Given the description of an element on the screen output the (x, y) to click on. 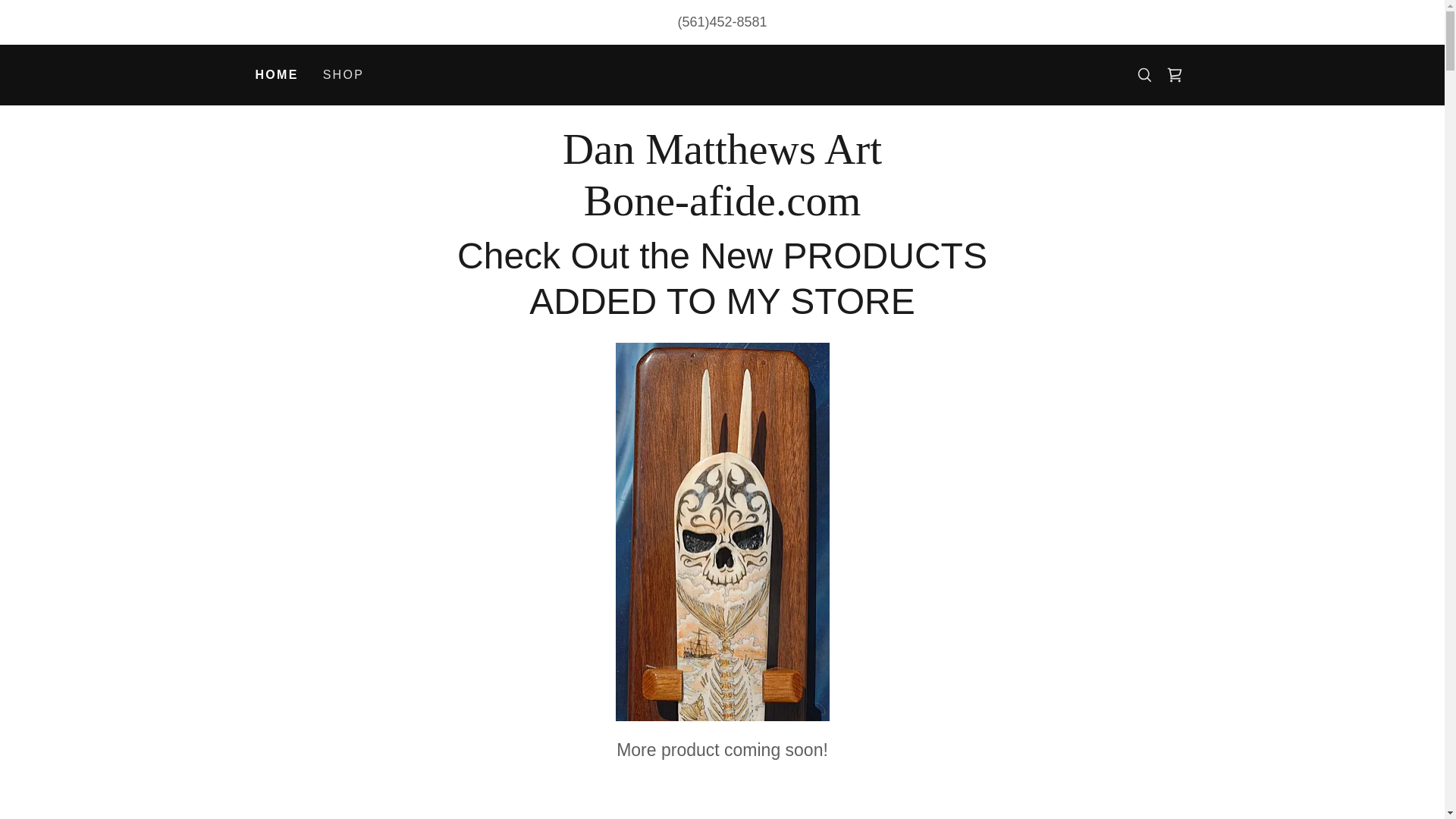
SHOP (343, 74)
HOME (721, 210)
